Given the description of an element on the screen output the (x, y) to click on. 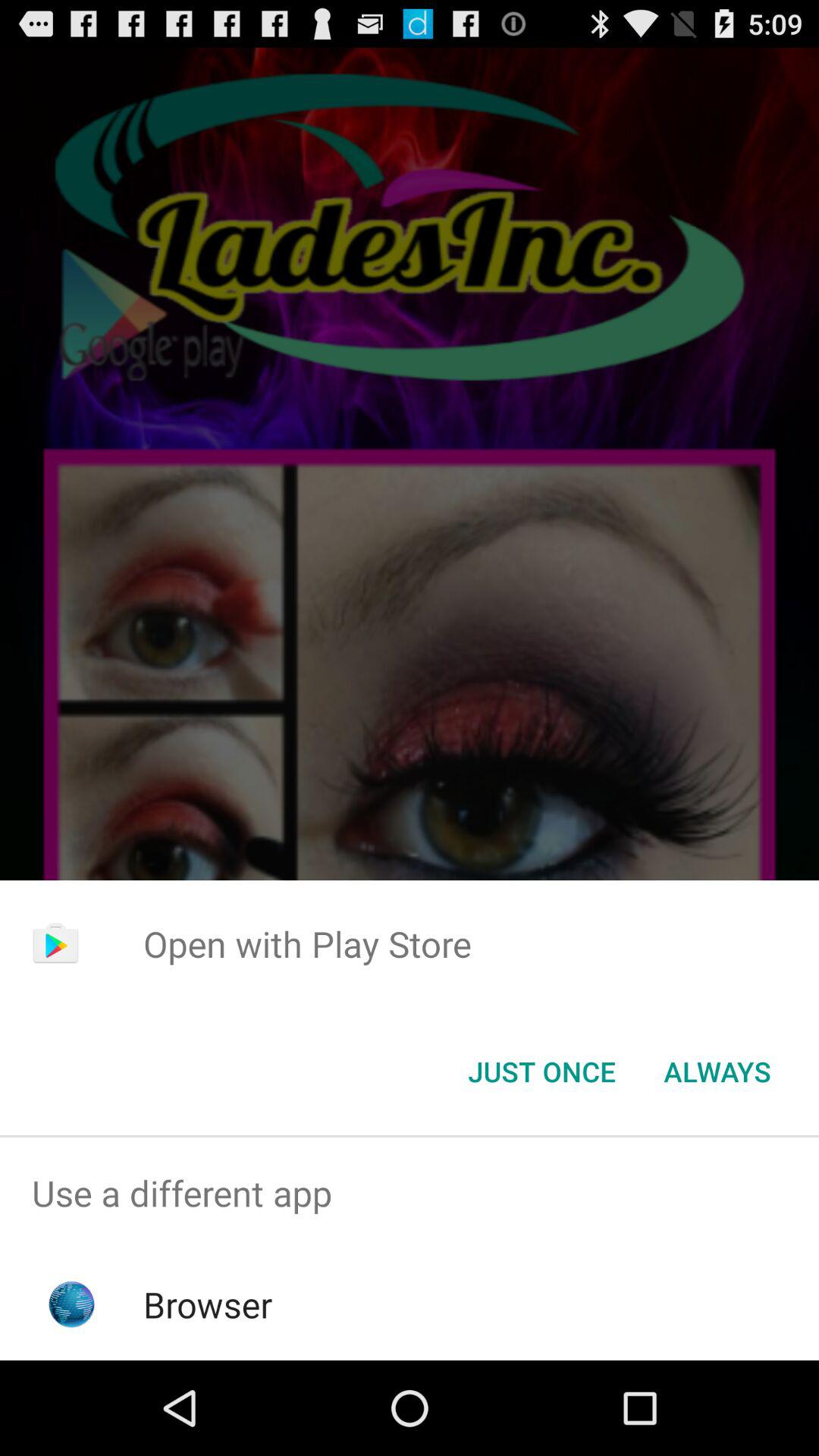
swipe to the use a different item (409, 1192)
